Given the description of an element on the screen output the (x, y) to click on. 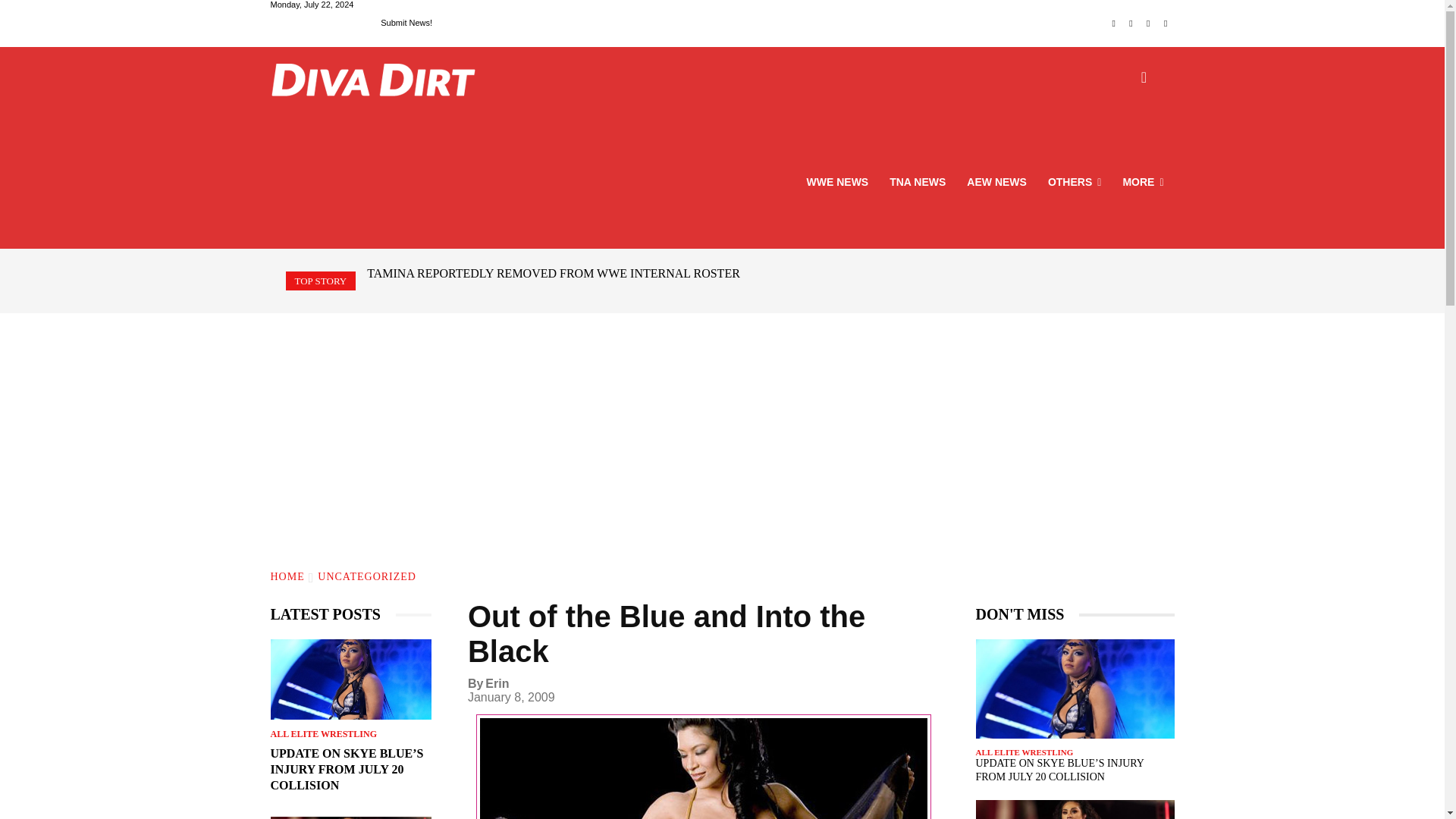
Youtube (1165, 23)
Tamina Reportedly Removed From WWE Internal Roster (349, 817)
Facebook (1113, 23)
Tamina Reportedly Removed From WWE Internal Roster (552, 273)
View all posts in Uncategorized (366, 576)
Instagram (1131, 23)
Twitter (1148, 23)
